Given the description of an element on the screen output the (x, y) to click on. 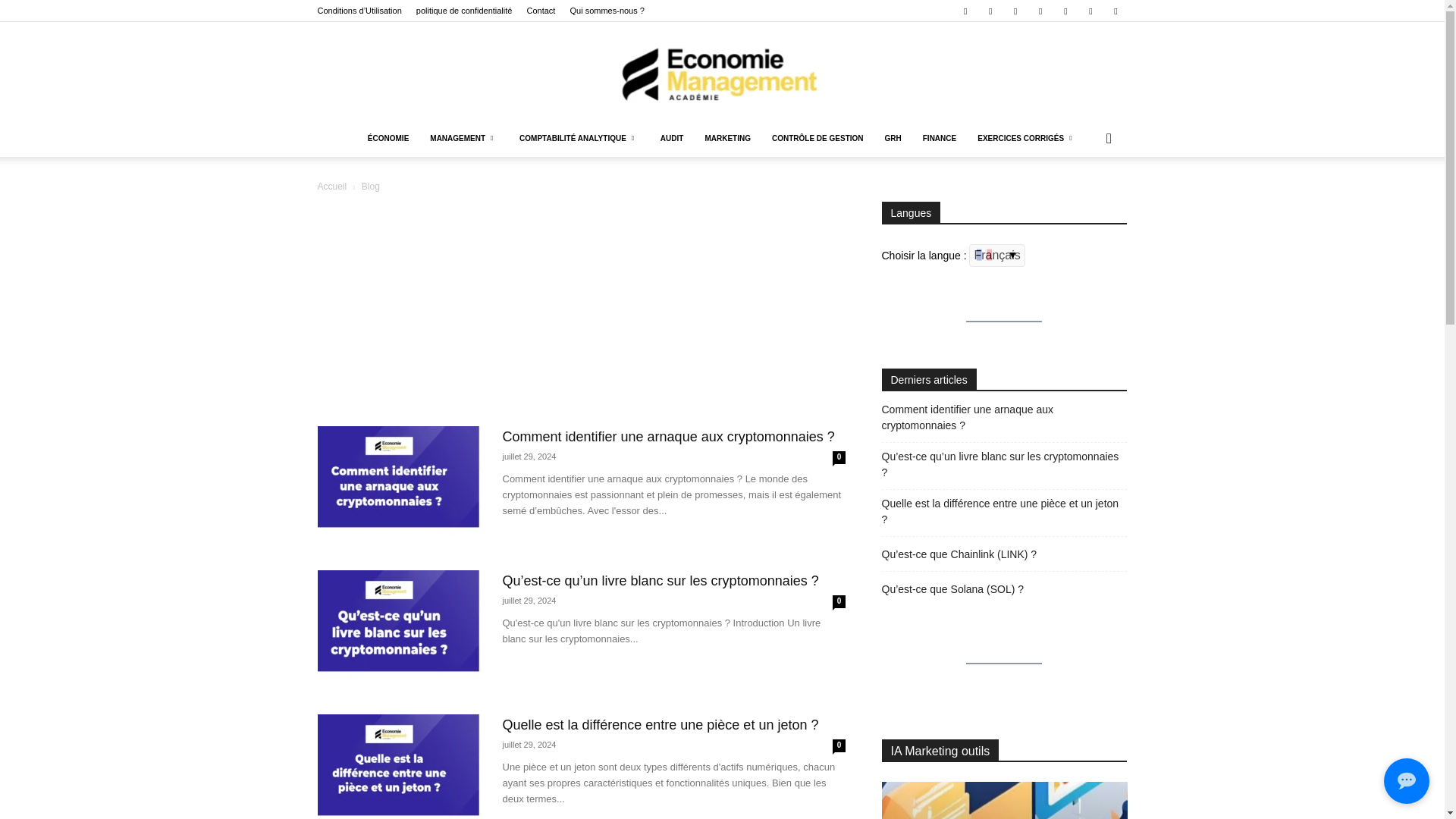
Qui sommes-nous ? (606, 10)
Twitter (1114, 10)
Facebook (964, 10)
Telegram (1090, 10)
Pinterest (1040, 10)
Contact (539, 10)
Linkedin (989, 10)
Medium (1015, 10)
Reddit (1065, 10)
